Given the description of an element on the screen output the (x, y) to click on. 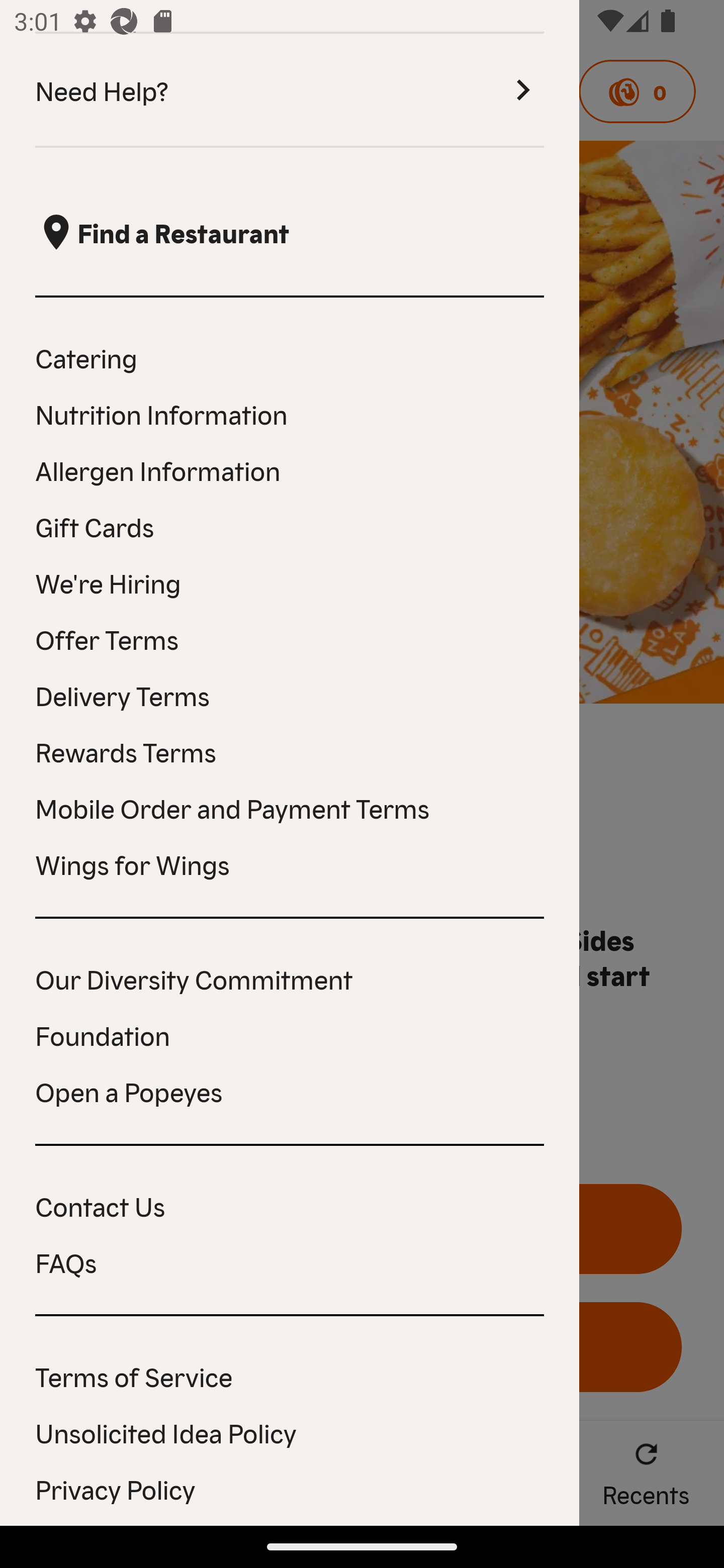
Need Help? Need Help?  (289, 89)
, Find a Restaurant  Find a Restaurant (289, 232)
Catering (289, 357)
Nutrition Information (289, 413)
Allergen Information (289, 469)
Gift Cards (289, 526)
We're Hiring (289, 582)
Offer Terms (289, 638)
Delivery Terms (289, 694)
Rewards Terms (289, 750)
Mobile Order and Payment Terms (289, 807)
Wings for Wings (289, 863)
Our Diversity Commitment (289, 978)
Foundation (289, 1034)
Open a Popeyes (289, 1091)
Contact Us (289, 1205)
FAQs (289, 1261)
Terms of Service (289, 1375)
Unsolicited Idea Policy (289, 1432)
Privacy Policy (289, 1488)
